Given the description of an element on the screen output the (x, y) to click on. 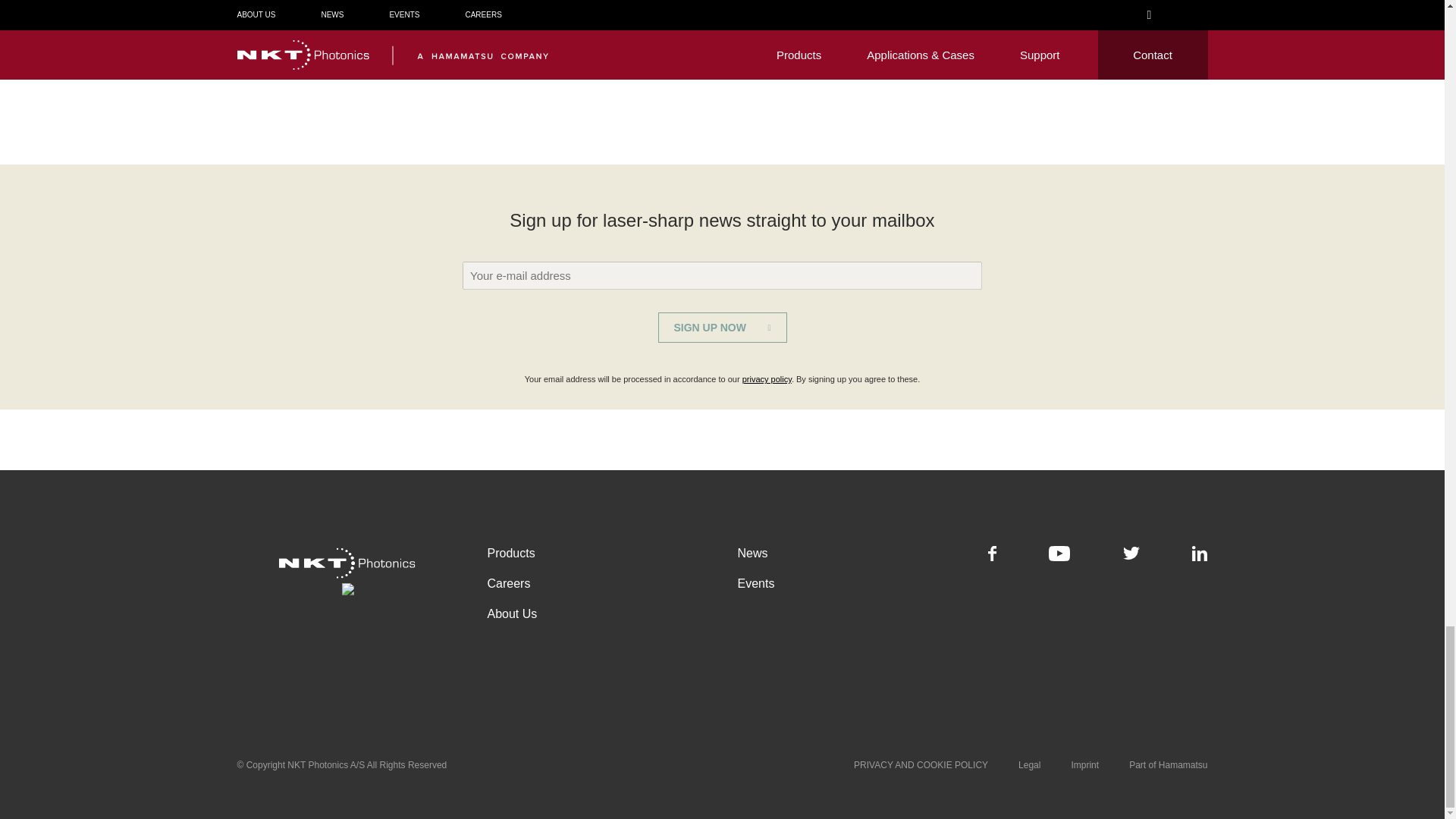
Visit us on Youtube (1059, 556)
Linkedin Linkedin icon (1199, 553)
NKT Photonics - Home (346, 568)
Twitter Twitter icon (1131, 553)
Youtube Youtube icon (1059, 553)
